Given the description of an element on the screen output the (x, y) to click on. 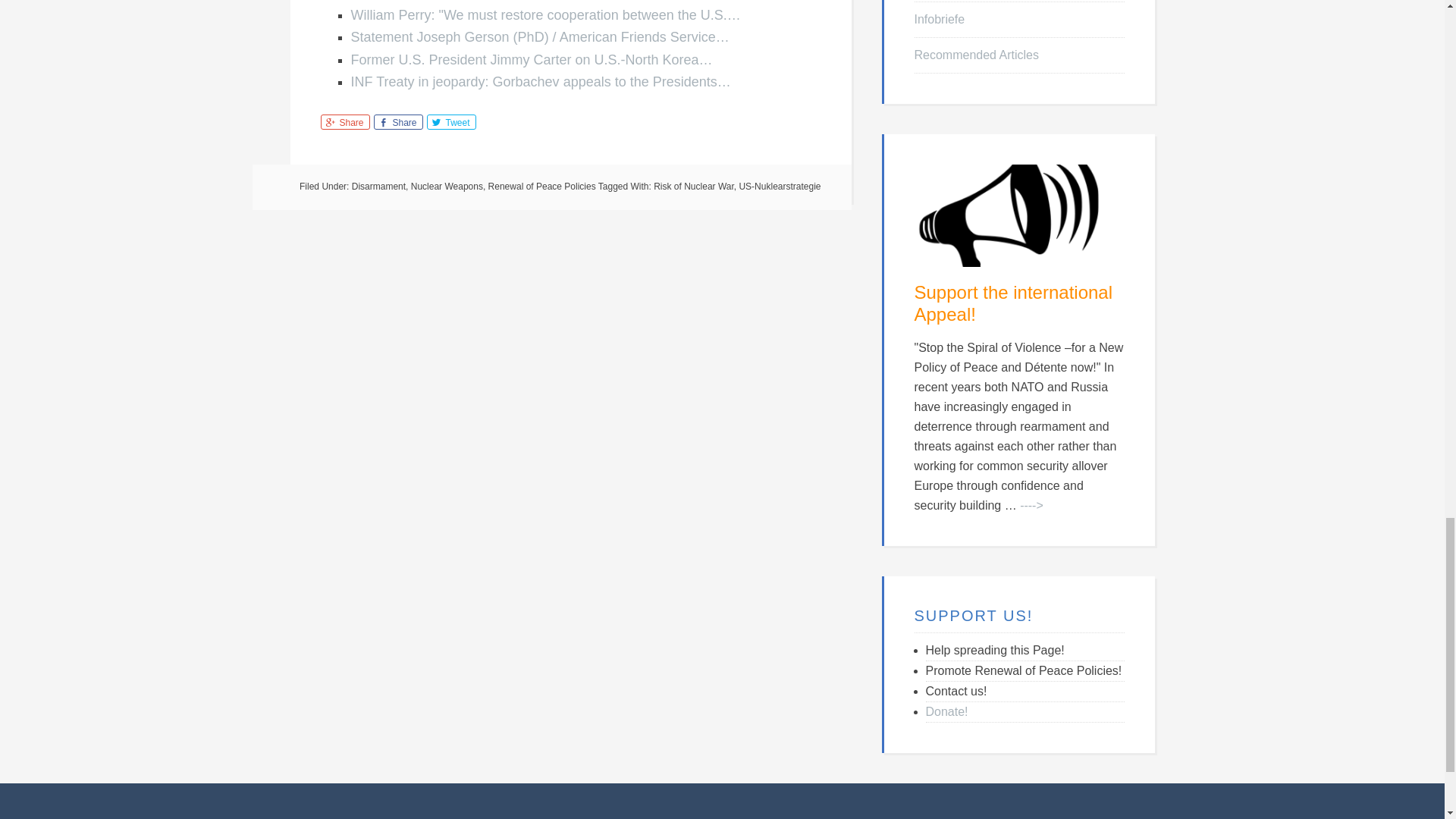
Tweet (451, 121)
Disarmament (379, 185)
US-Nuklearstrategie (779, 185)
Nuclear Weapons (446, 185)
Risk of Nuclear War (693, 185)
Share (344, 121)
Renewal of Peace Policies (541, 185)
Share (397, 121)
